Given the description of an element on the screen output the (x, y) to click on. 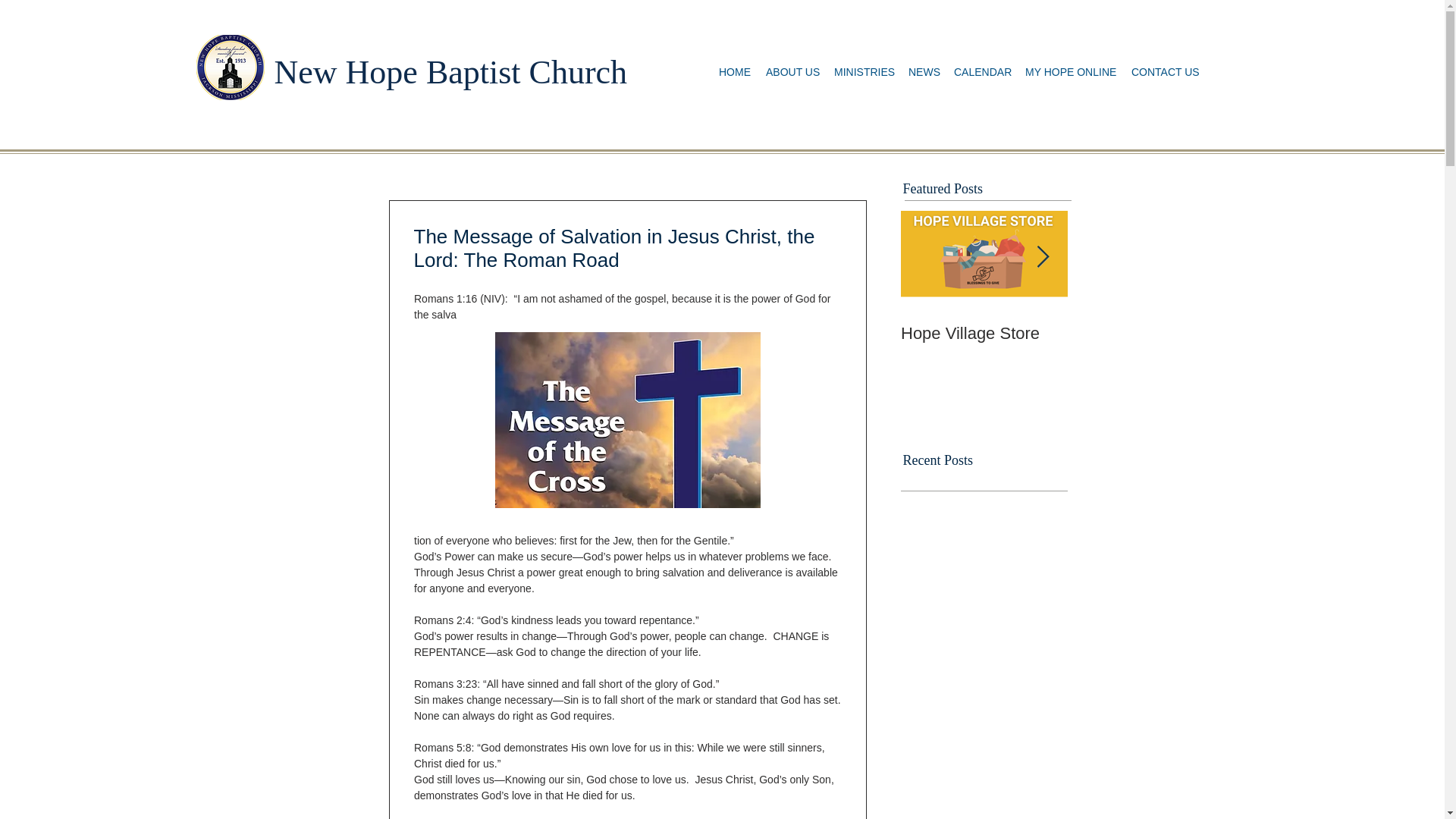
NEWS (923, 72)
HOME (734, 72)
New Hope Baptist Church (451, 72)
MINISTRIES (864, 72)
CALENDAR (981, 72)
CONTACT US (1164, 72)
MY HOPE ONLINE (1070, 72)
